Given the description of an element on the screen output the (x, y) to click on. 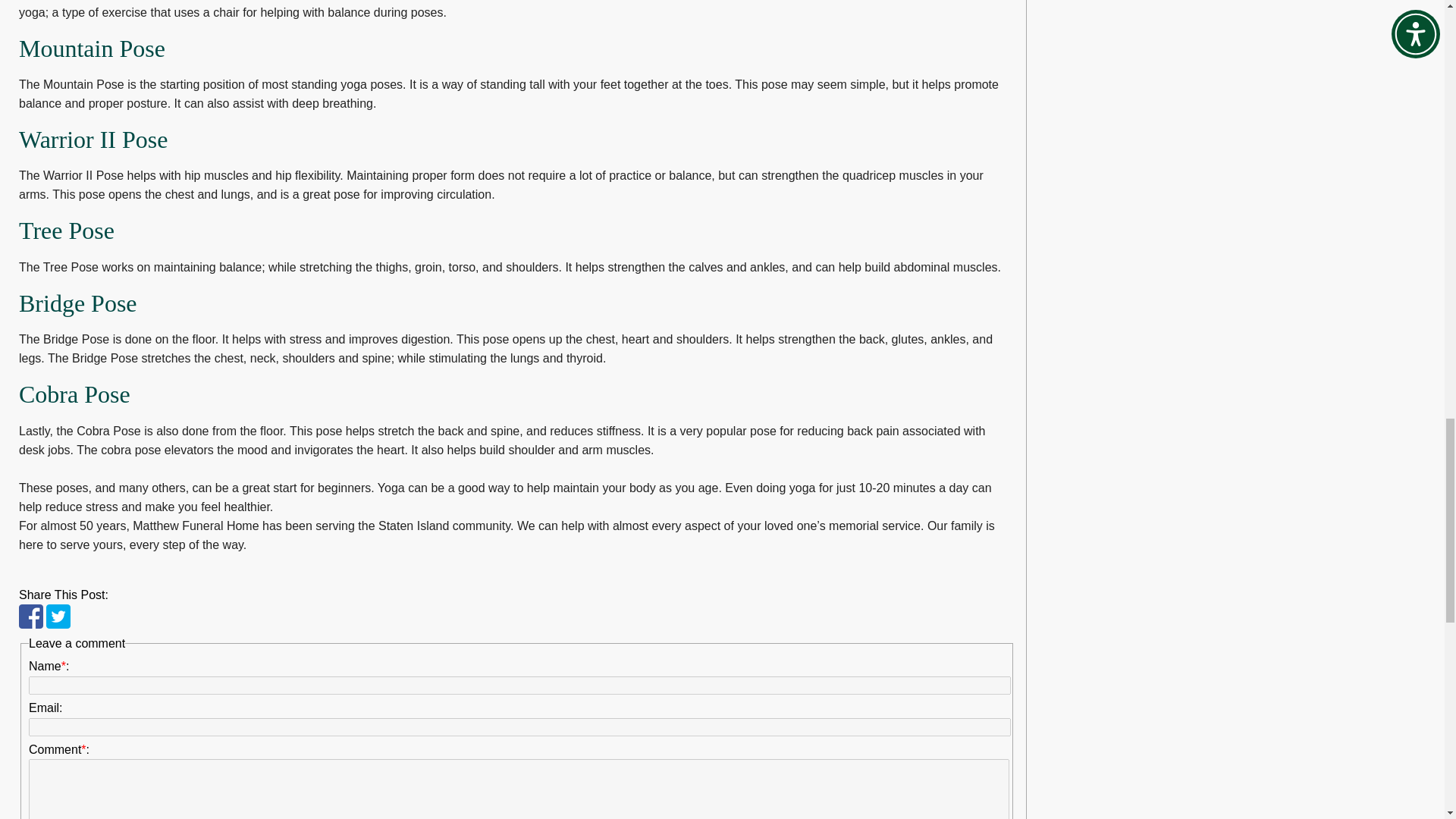
Facebook (30, 616)
Twitter (57, 616)
